Given the description of an element on the screen output the (x, y) to click on. 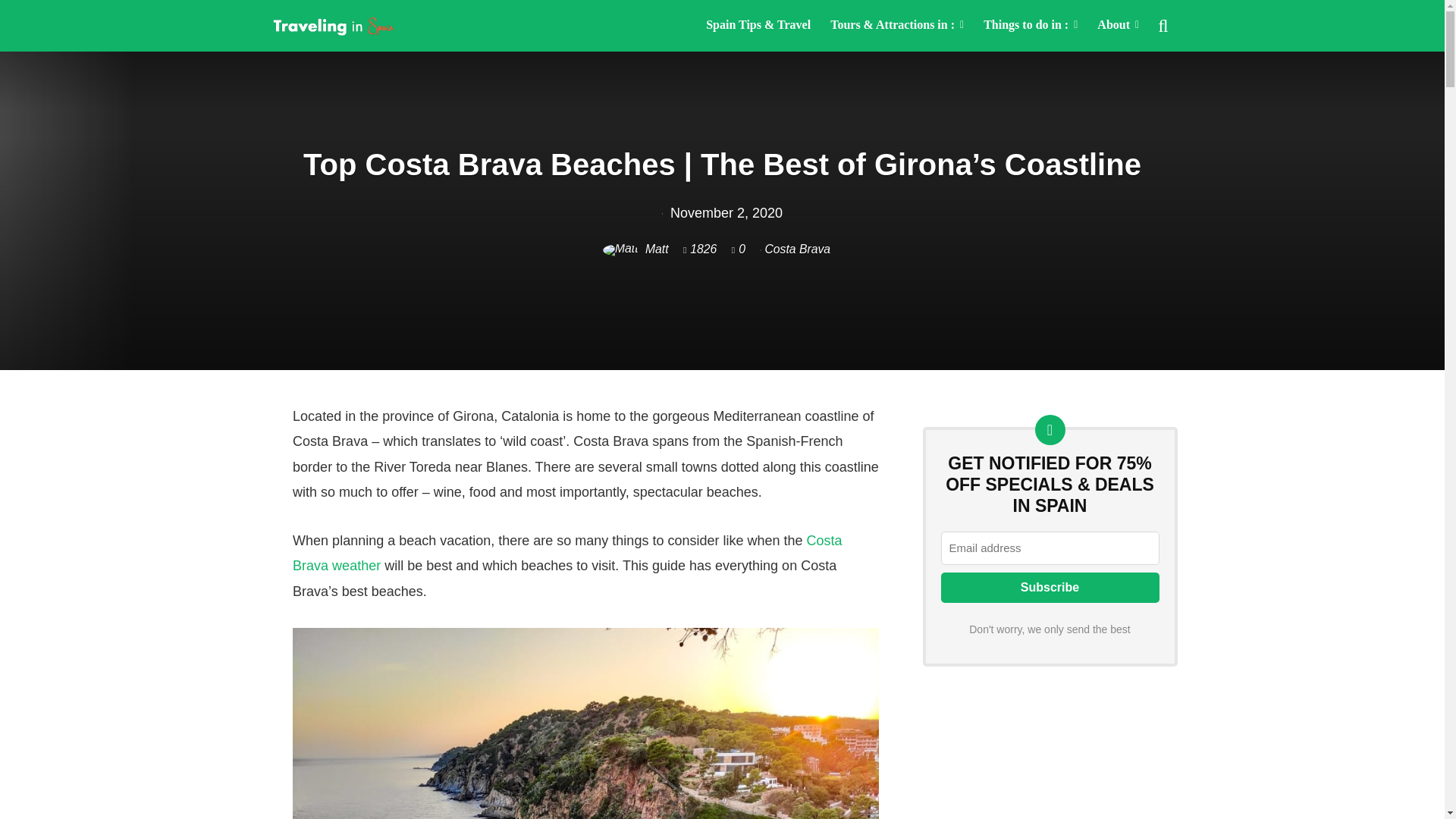
Matt (635, 248)
Costa Brava (796, 248)
View all posts in Costa Brava (796, 248)
About (1117, 25)
Subscribe (1049, 587)
Things to do in : (1030, 25)
Costa Brava weather (566, 553)
